Given the description of an element on the screen output the (x, y) to click on. 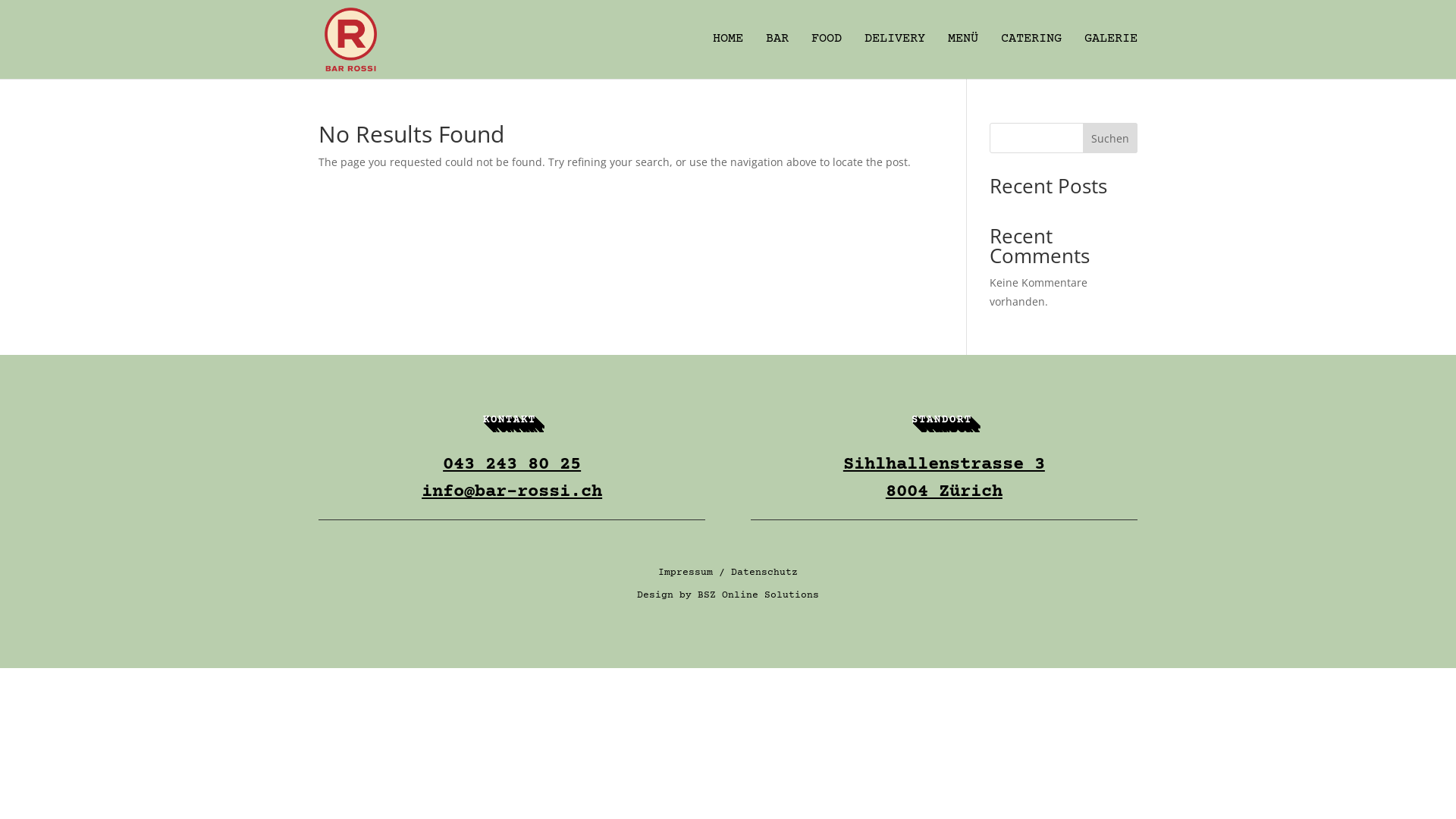
info@bar-rossi.ch Element type: text (511, 491)
043 243 80 25 Element type: text (511, 464)
Impressum Element type: text (685, 572)
CATERING Element type: text (1031, 56)
BAR Element type: text (776, 56)
FOOD Element type: text (826, 56)
HOME Element type: text (727, 56)
DELIVERY Element type: text (894, 56)
Design by BSZ Online Solutions Element type: text (728, 594)
GALERIE Element type: text (1110, 56)
Suchen Element type: text (1109, 137)
/ Datenschutz Element type: text (754, 572)
